Given the description of an element on the screen output the (x, y) to click on. 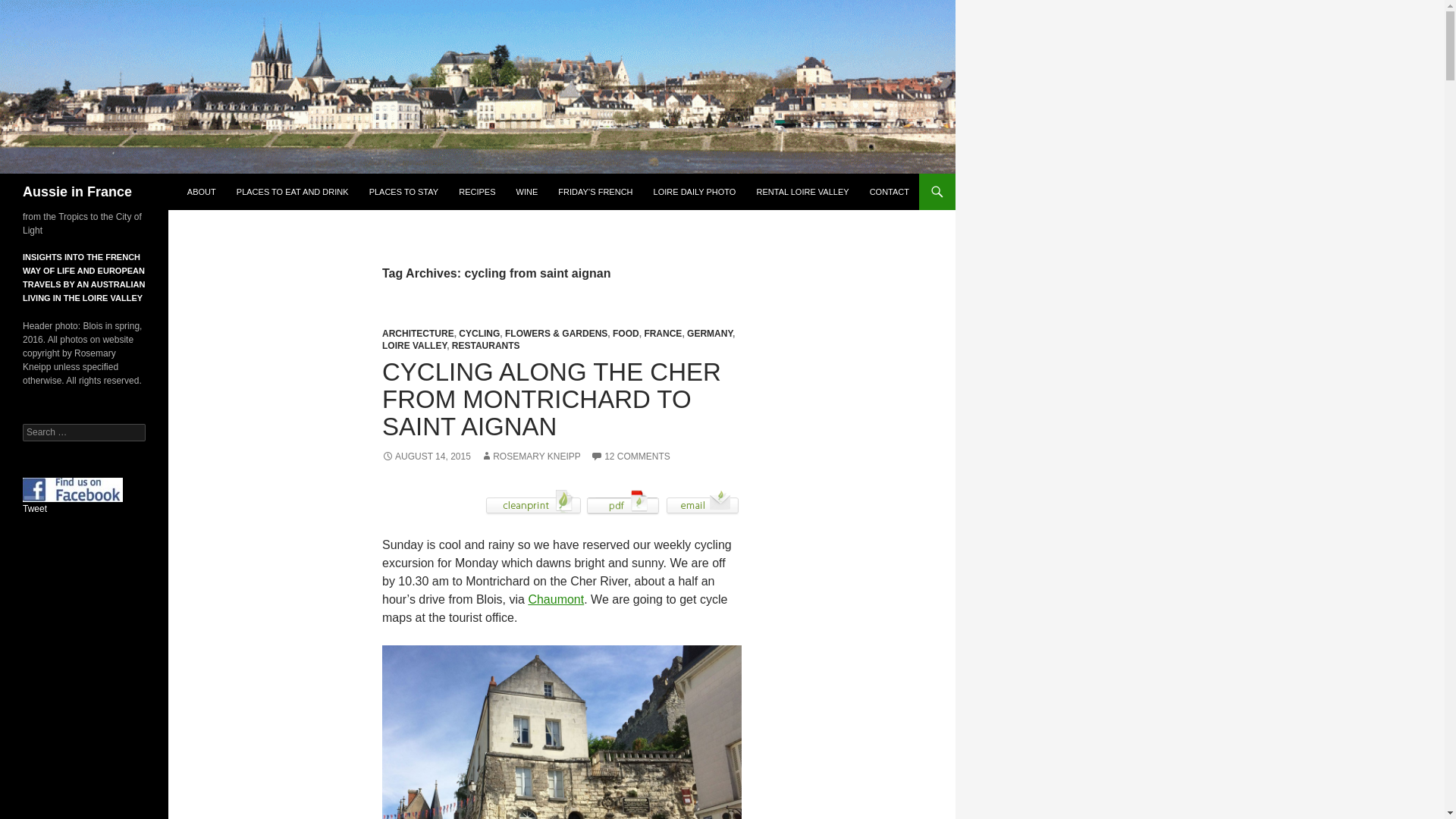
Chaumont (555, 599)
Email page (702, 501)
RECIPES (476, 191)
Print page (533, 501)
12 COMMENTS (630, 456)
GERMANY (709, 333)
FOOD (625, 333)
LOIRE DAILY PHOTO (695, 191)
ABOUT (201, 191)
FRANCE (662, 333)
